Given the description of an element on the screen output the (x, y) to click on. 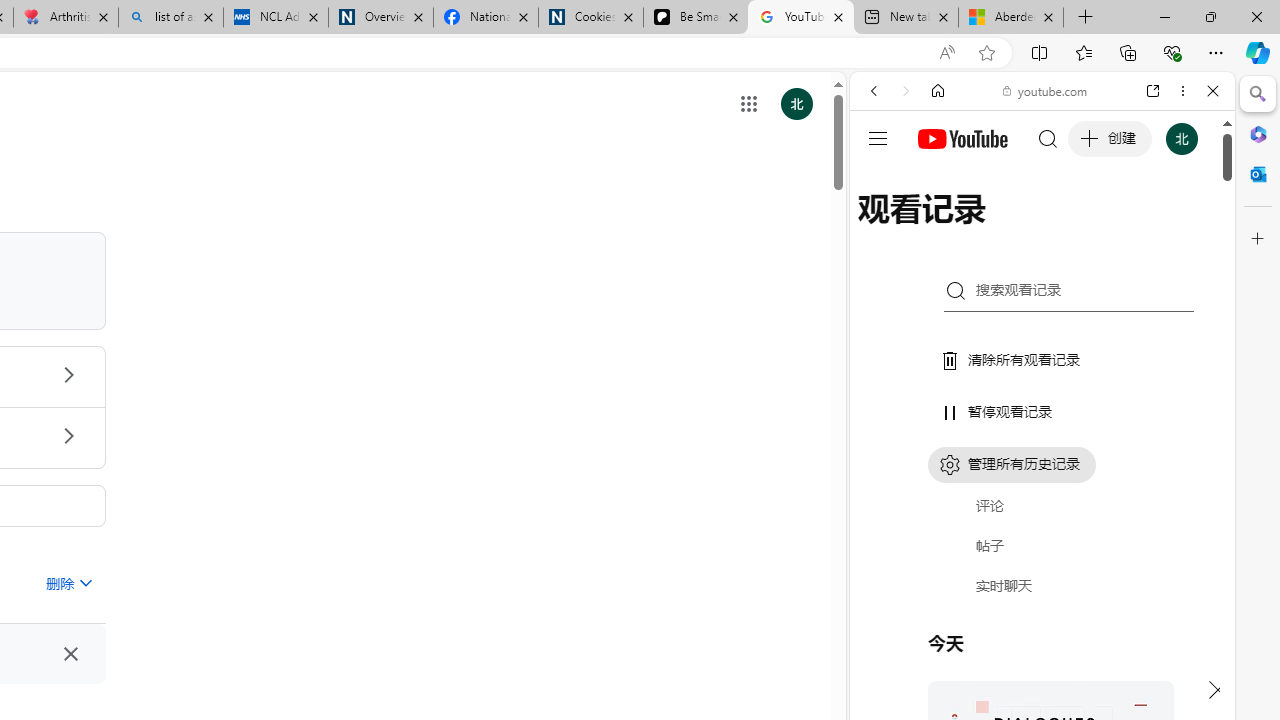
Be Smart | creating Science videos | Patreon (695, 17)
Search Filter, Search Tools (1093, 228)
Close Customize pane (1258, 239)
Cookies | About | NICE (590, 17)
